Given the description of an element on the screen output the (x, y) to click on. 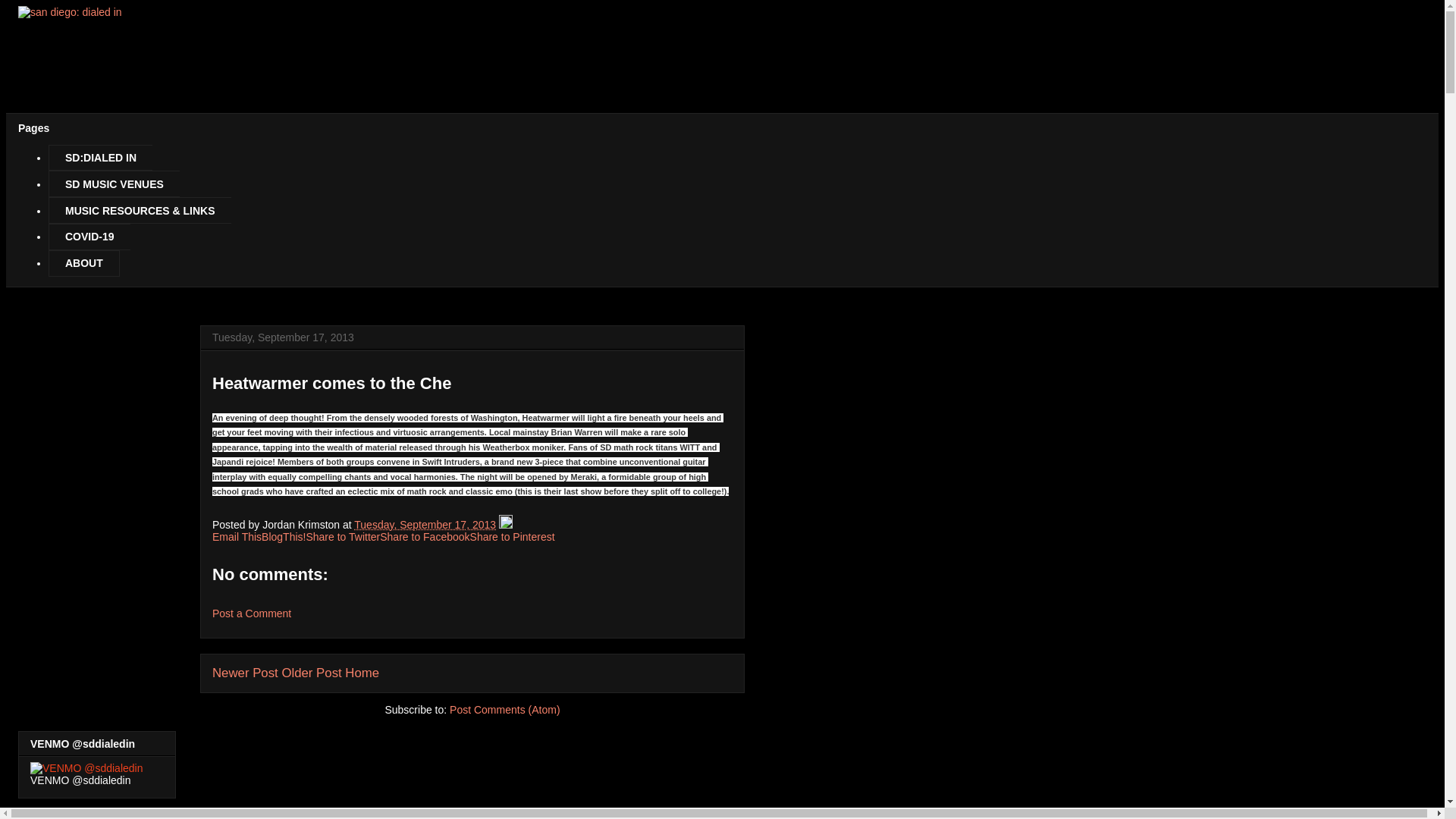
Older Post (310, 672)
Tuesday, September 17, 2013 (424, 524)
Home (361, 672)
Share to Twitter (342, 536)
Share to Facebook (424, 536)
Newer Post (245, 672)
BlogThis! (283, 536)
BlogThis! (283, 536)
Newer Post (245, 672)
permanent link (424, 524)
SD MUSIC VENUES (113, 183)
Share to Twitter (342, 536)
Post a Comment (251, 613)
Share to Pinterest (512, 536)
Share to Facebook (424, 536)
